Given the description of an element on the screen output the (x, y) to click on. 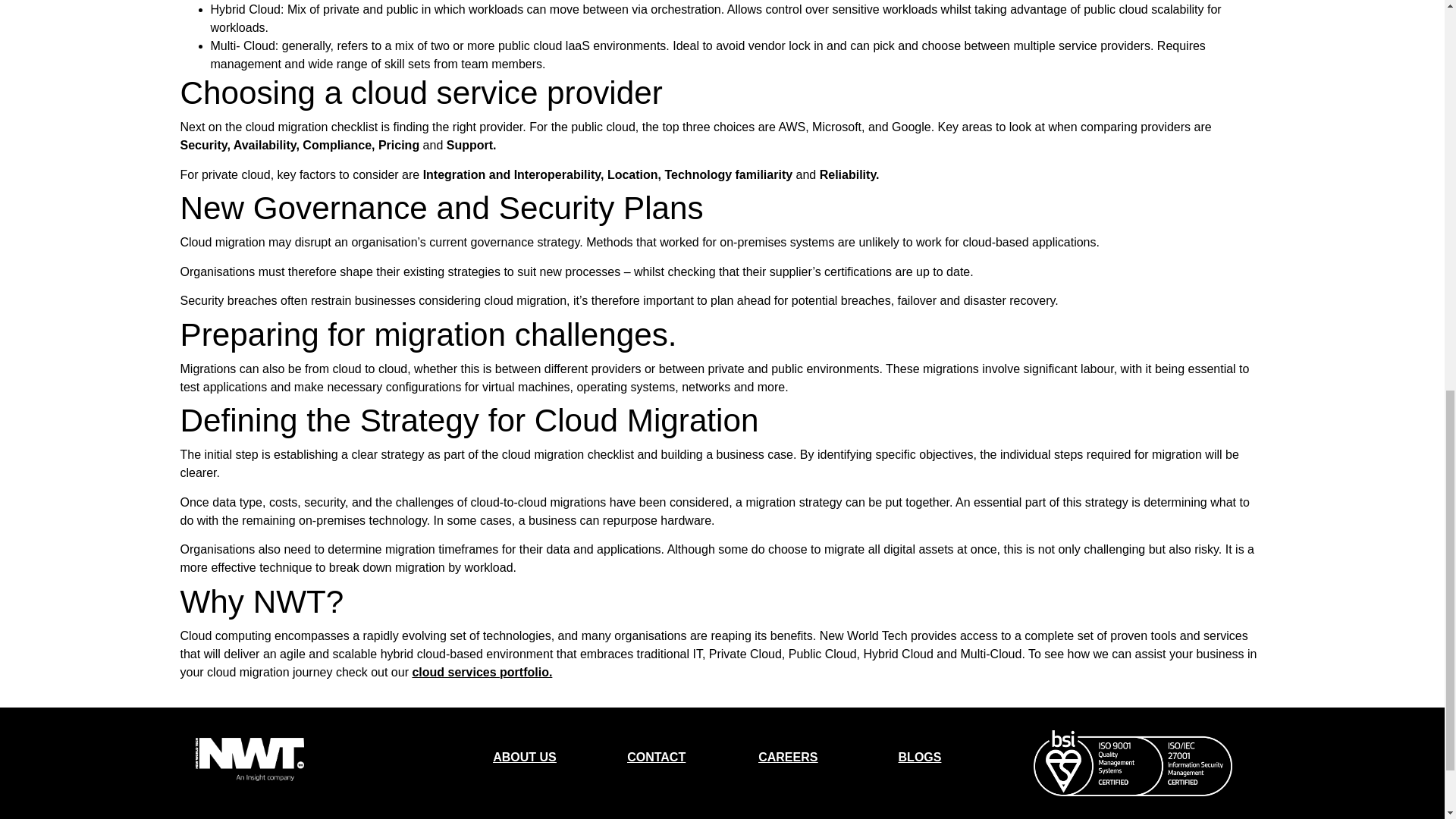
BLOGS (920, 757)
ABOUT US (524, 757)
CAREERS (787, 757)
cloud services portfolio. (481, 671)
CONTACT (656, 757)
